Given the description of an element on the screen output the (x, y) to click on. 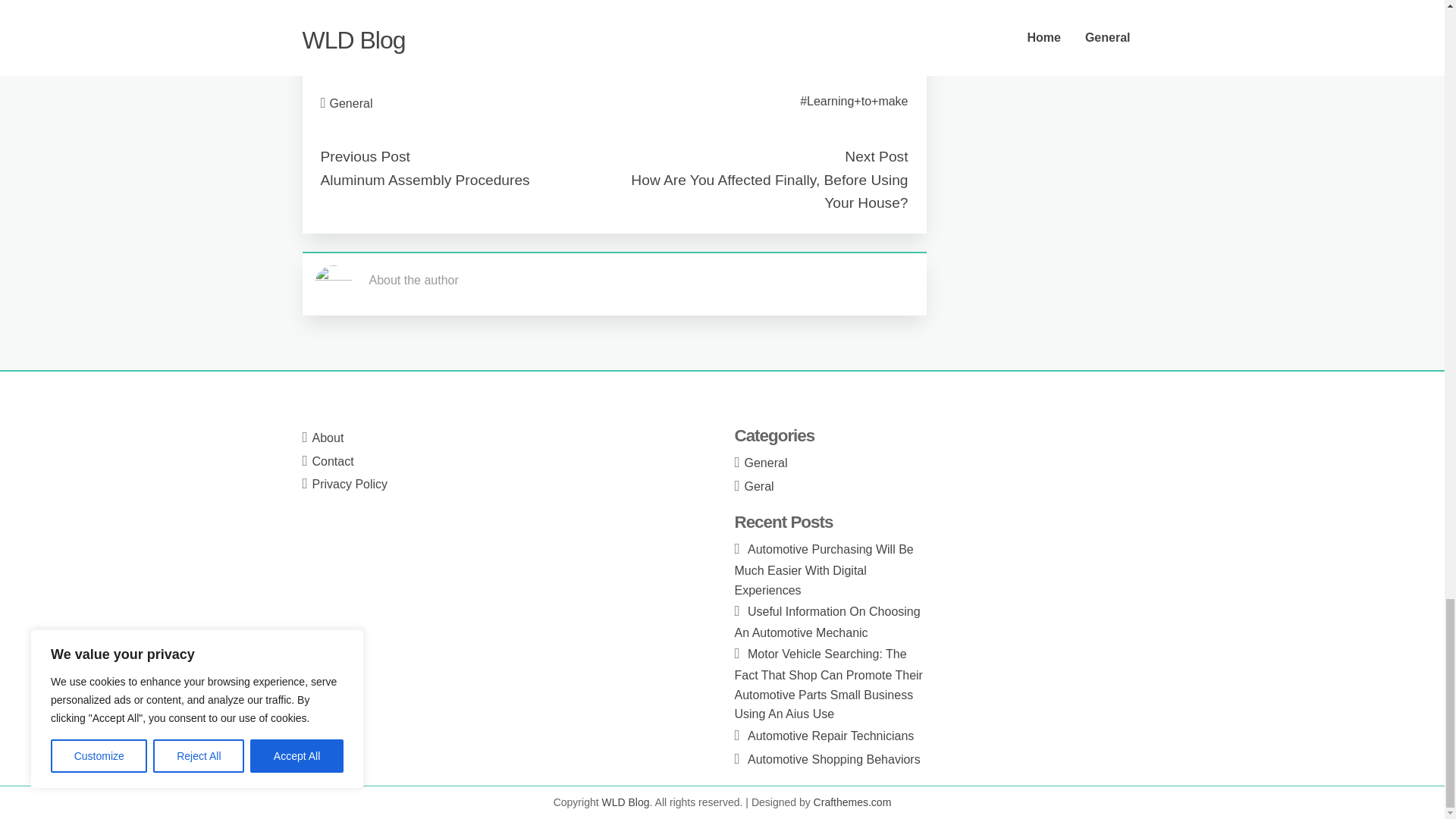
About (328, 437)
General (351, 103)
Aluminum Assembly Procedures (424, 179)
Next Post (875, 156)
simply click the up coming website (412, 51)
Contact (333, 461)
How Are You Affected Finally, Before Using Your House? (768, 191)
Previous Post (364, 156)
cool training (352, 11)
